Given the description of an element on the screen output the (x, y) to click on. 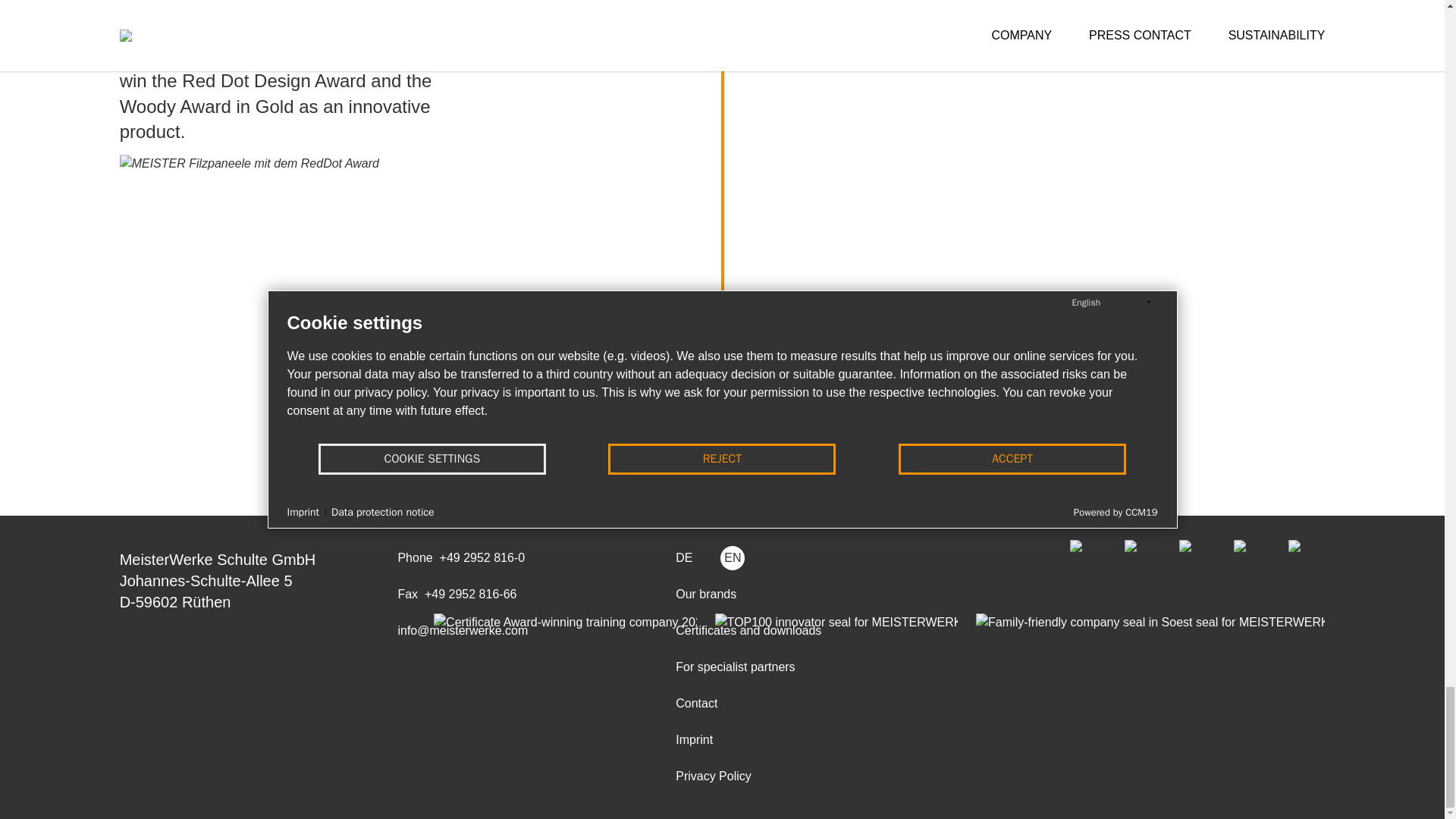
Our brands (705, 594)
Pinterest (1197, 557)
YouTube (1142, 557)
Contact (696, 703)
LinkedIn (1306, 557)
Facebook (1088, 557)
EN (741, 557)
Imprint (694, 739)
DE (693, 557)
For specialist partners (734, 667)
Instagram (1251, 557)
Privacy Policy (713, 776)
Certificates and downloads (748, 630)
